Given the description of an element on the screen output the (x, y) to click on. 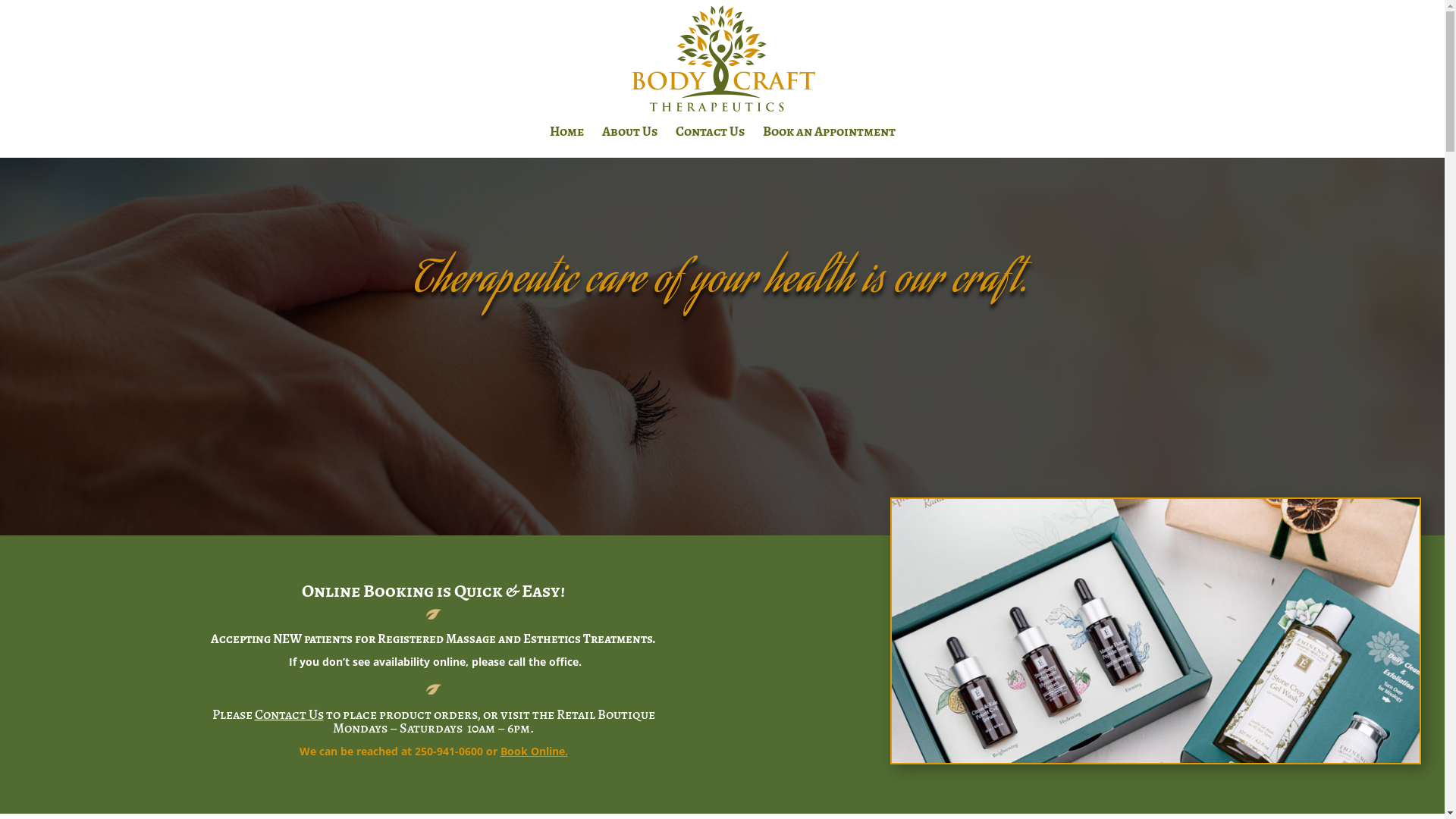
Book an Appointment Element type: text (828, 141)
Book Online. Element type: text (533, 750)
Therapeutic care of your health is our craft. Element type: text (721, 282)
About Us Element type: text (629, 141)
2022-Holiday-Social-Media-Package-800x400-5-opt Element type: hover (1155, 630)
Contact Us Element type: text (288, 714)
Contact Us Element type: text (708, 141)
Home Element type: text (566, 141)
